Given the description of an element on the screen output the (x, y) to click on. 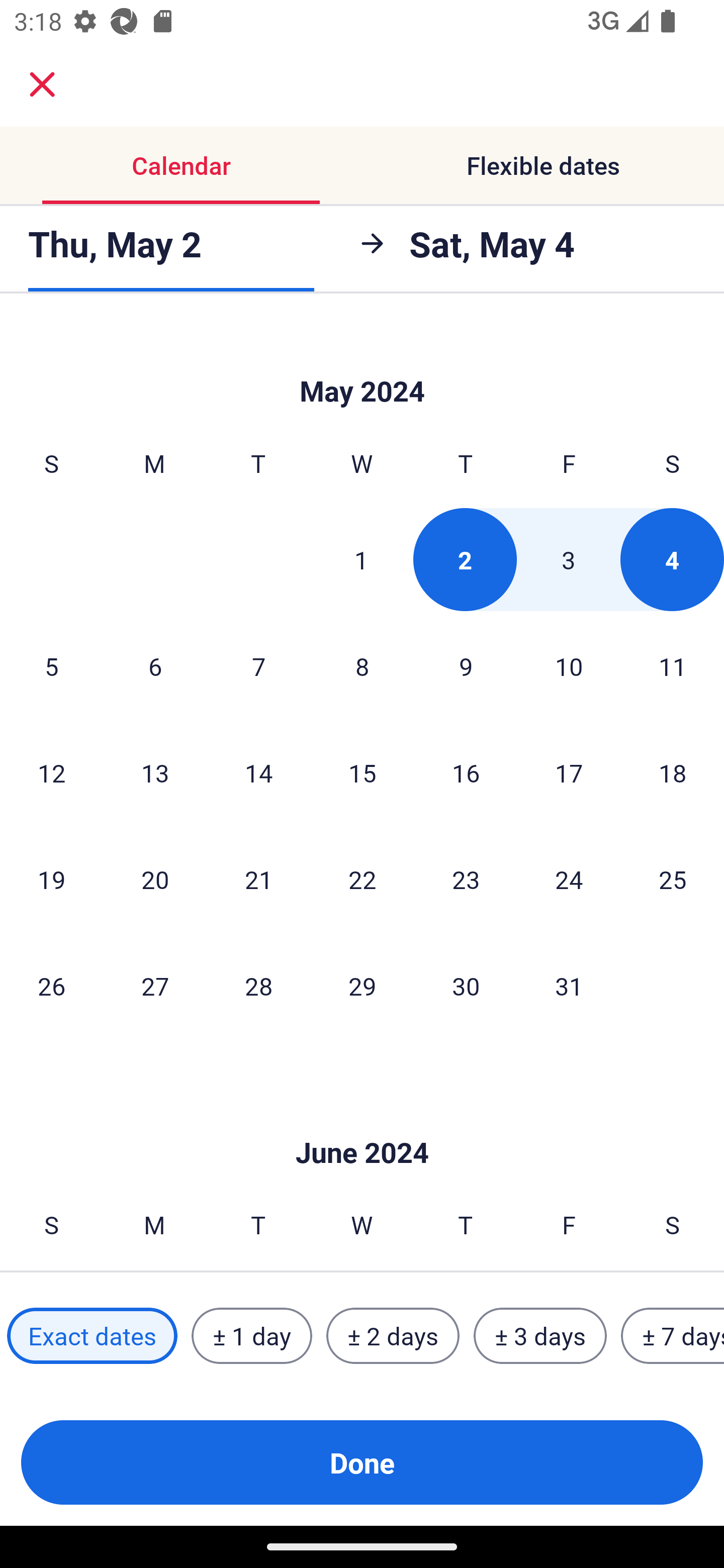
close. (42, 84)
Flexible dates (542, 164)
Skip to Done (362, 361)
1 Wednesday, May 1, 2024 (361, 559)
5 Sunday, May 5, 2024 (51, 666)
6 Monday, May 6, 2024 (155, 666)
7 Tuesday, May 7, 2024 (258, 666)
8 Wednesday, May 8, 2024 (362, 666)
9 Thursday, May 9, 2024 (465, 666)
10 Friday, May 10, 2024 (569, 666)
11 Saturday, May 11, 2024 (672, 666)
12 Sunday, May 12, 2024 (51, 772)
13 Monday, May 13, 2024 (155, 772)
14 Tuesday, May 14, 2024 (258, 772)
15 Wednesday, May 15, 2024 (362, 772)
16 Thursday, May 16, 2024 (465, 772)
17 Friday, May 17, 2024 (569, 772)
18 Saturday, May 18, 2024 (672, 772)
19 Sunday, May 19, 2024 (51, 879)
20 Monday, May 20, 2024 (155, 879)
21 Tuesday, May 21, 2024 (258, 879)
22 Wednesday, May 22, 2024 (362, 879)
23 Thursday, May 23, 2024 (465, 879)
24 Friday, May 24, 2024 (569, 879)
25 Saturday, May 25, 2024 (672, 879)
26 Sunday, May 26, 2024 (51, 986)
27 Monday, May 27, 2024 (155, 986)
28 Tuesday, May 28, 2024 (258, 986)
29 Wednesday, May 29, 2024 (362, 986)
30 Thursday, May 30, 2024 (465, 986)
31 Friday, May 31, 2024 (569, 986)
Skip to Done (362, 1122)
Exact dates (92, 1335)
± 1 day (251, 1335)
± 2 days (392, 1335)
± 3 days (539, 1335)
± 7 days (672, 1335)
Done (361, 1462)
